Given the description of an element on the screen output the (x, y) to click on. 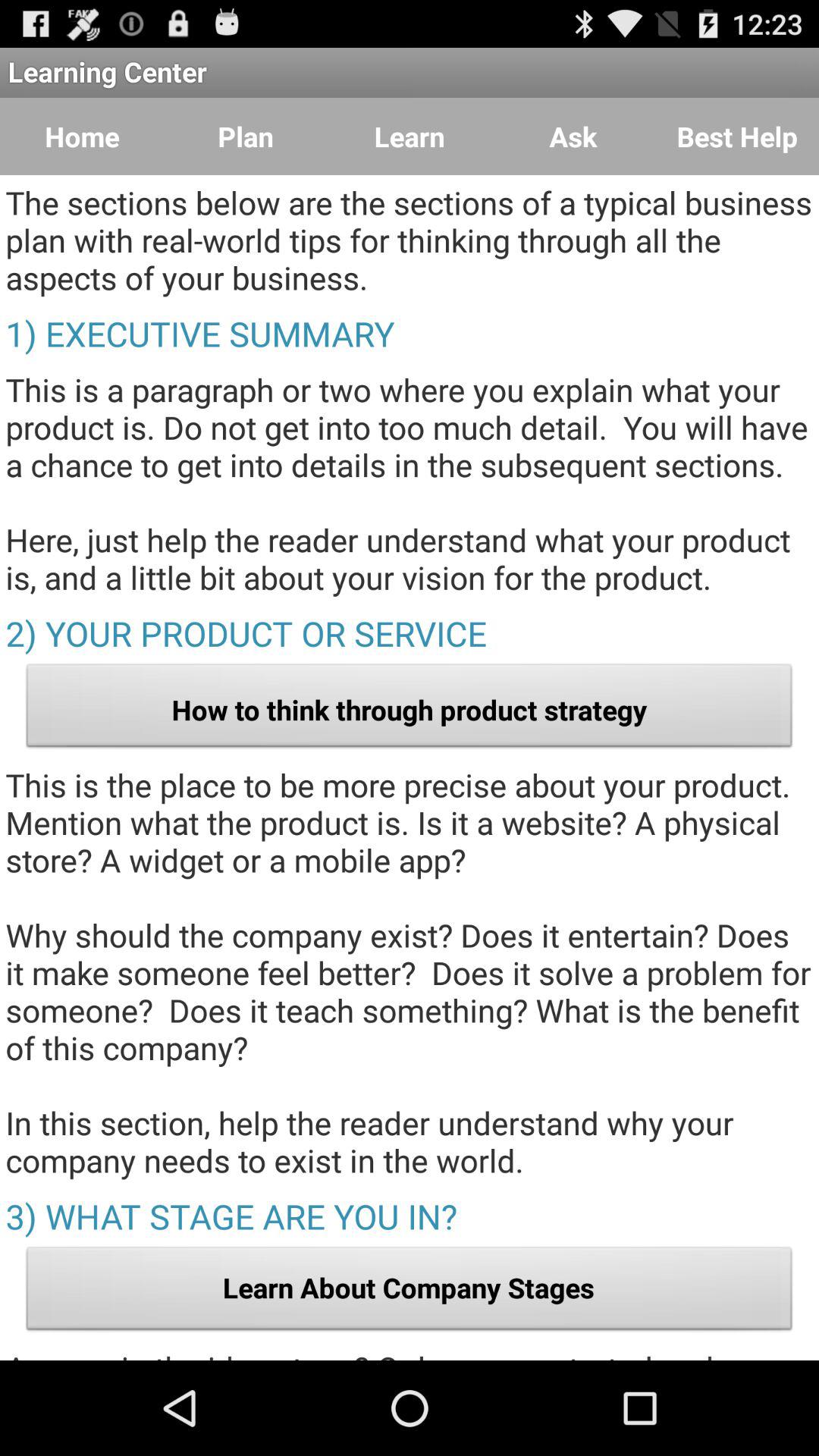
select button next to learn icon (573, 136)
